Given the description of an element on the screen output the (x, y) to click on. 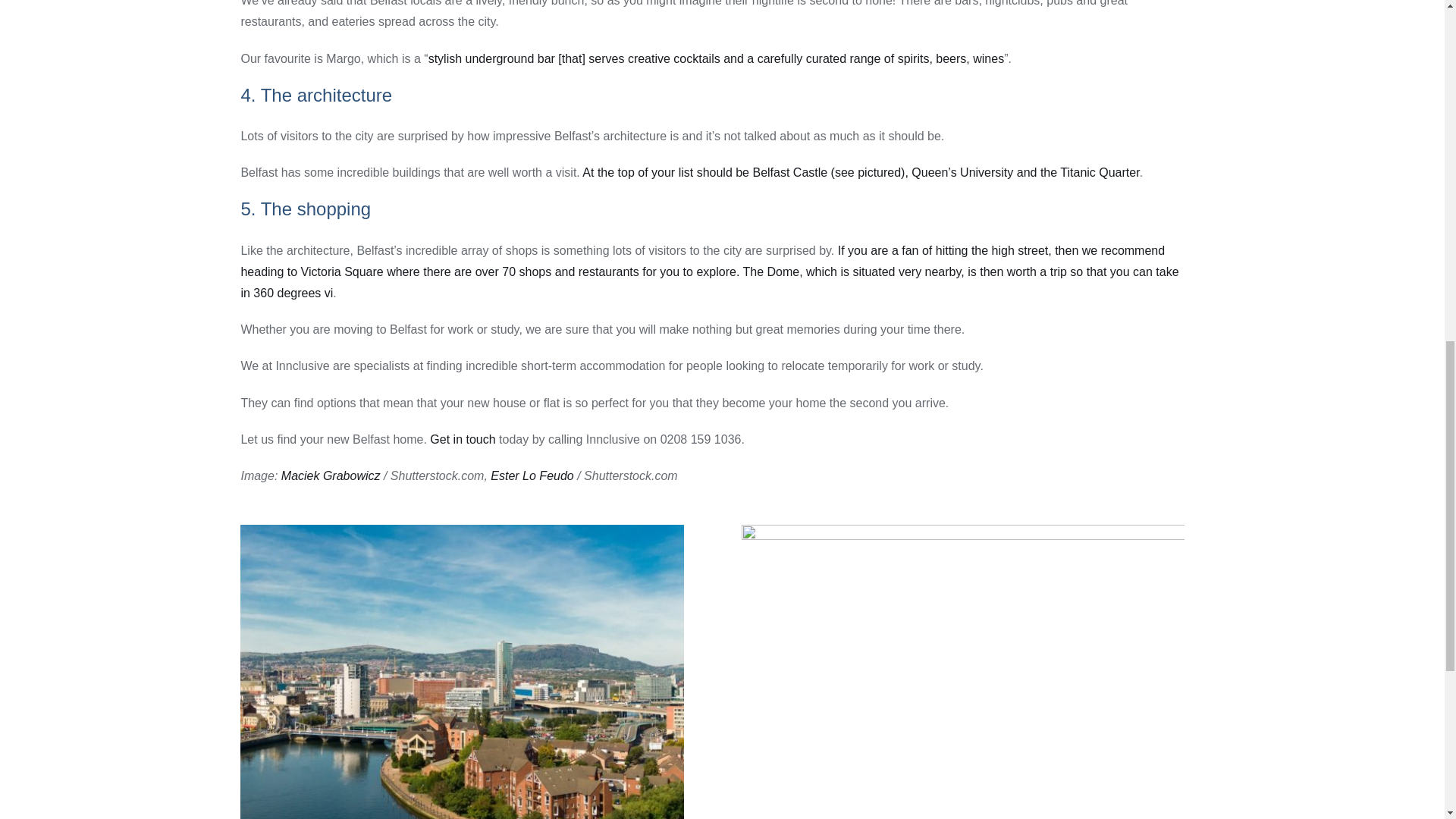
Aerial,View,On,River,And,Buildings,In,City,Center,Of (461, 671)
Belfast,Ireland,Castle (963, 671)
